Given the description of an element on the screen output the (x, y) to click on. 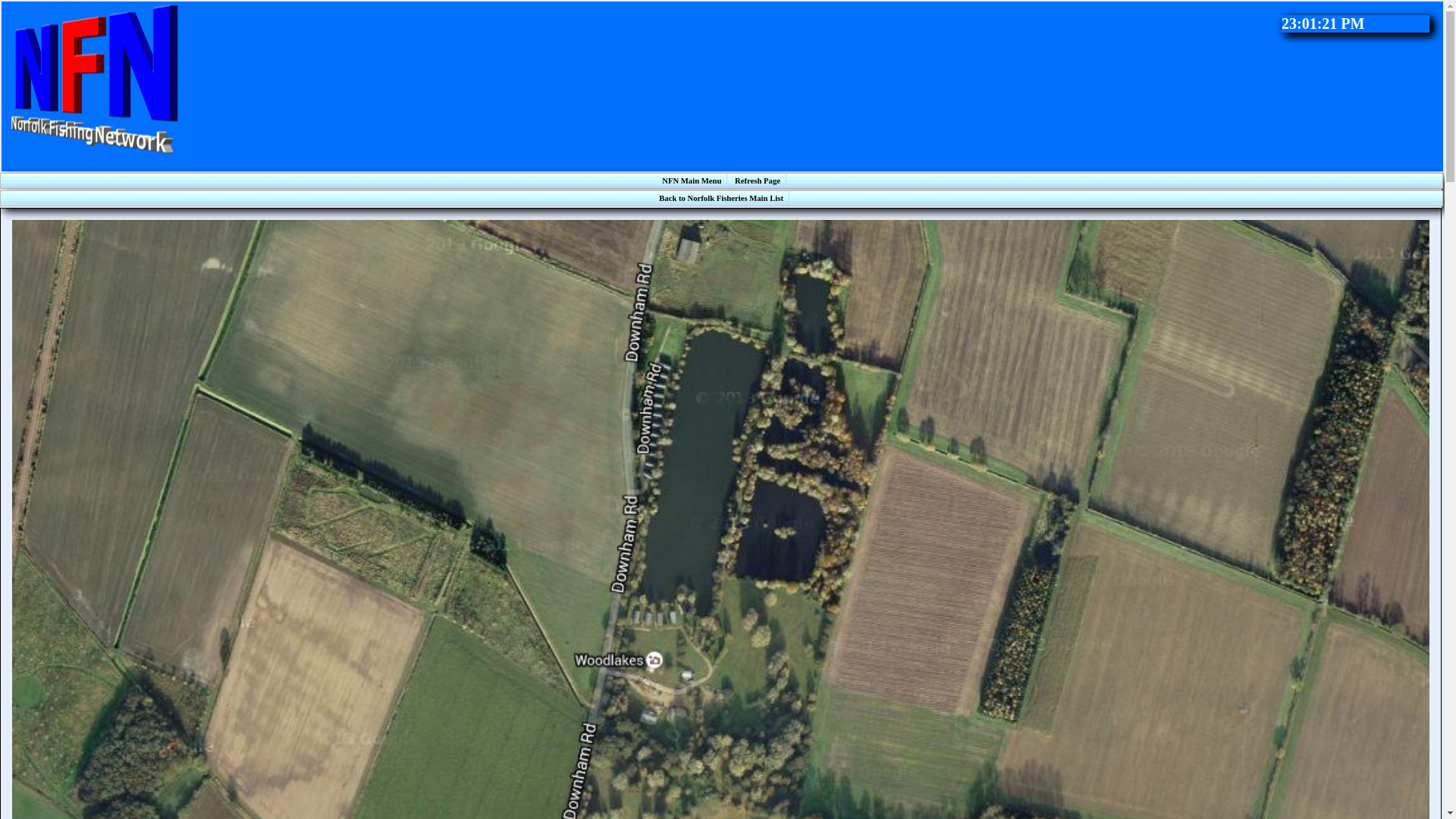
Refresh Page (757, 180)
Back to Norfolk Fisheries Main List (721, 197)
NFN Main Menu (691, 180)
